Given the description of an element on the screen output the (x, y) to click on. 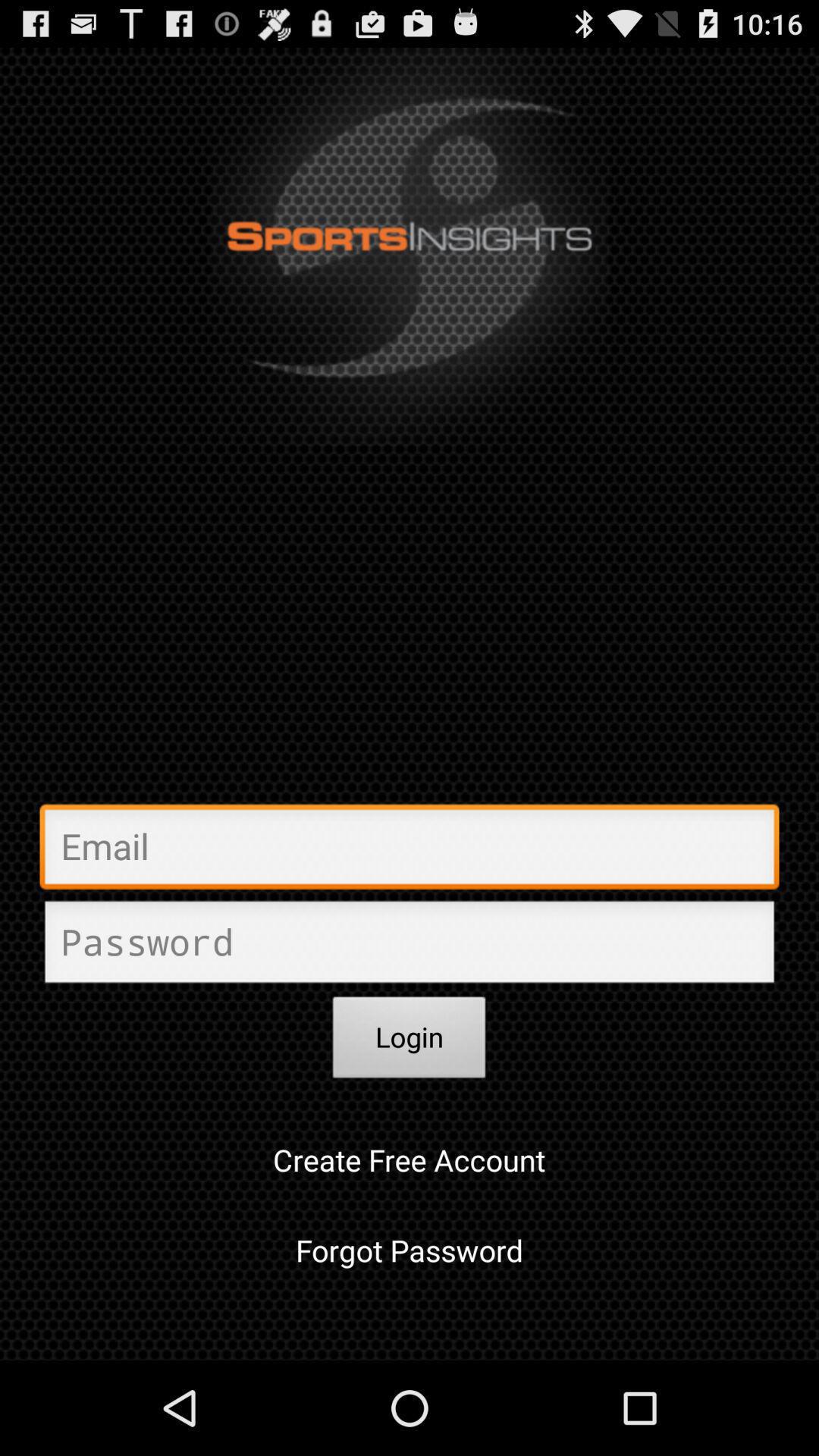
click to the email (409, 850)
